Given the description of an element on the screen output the (x, y) to click on. 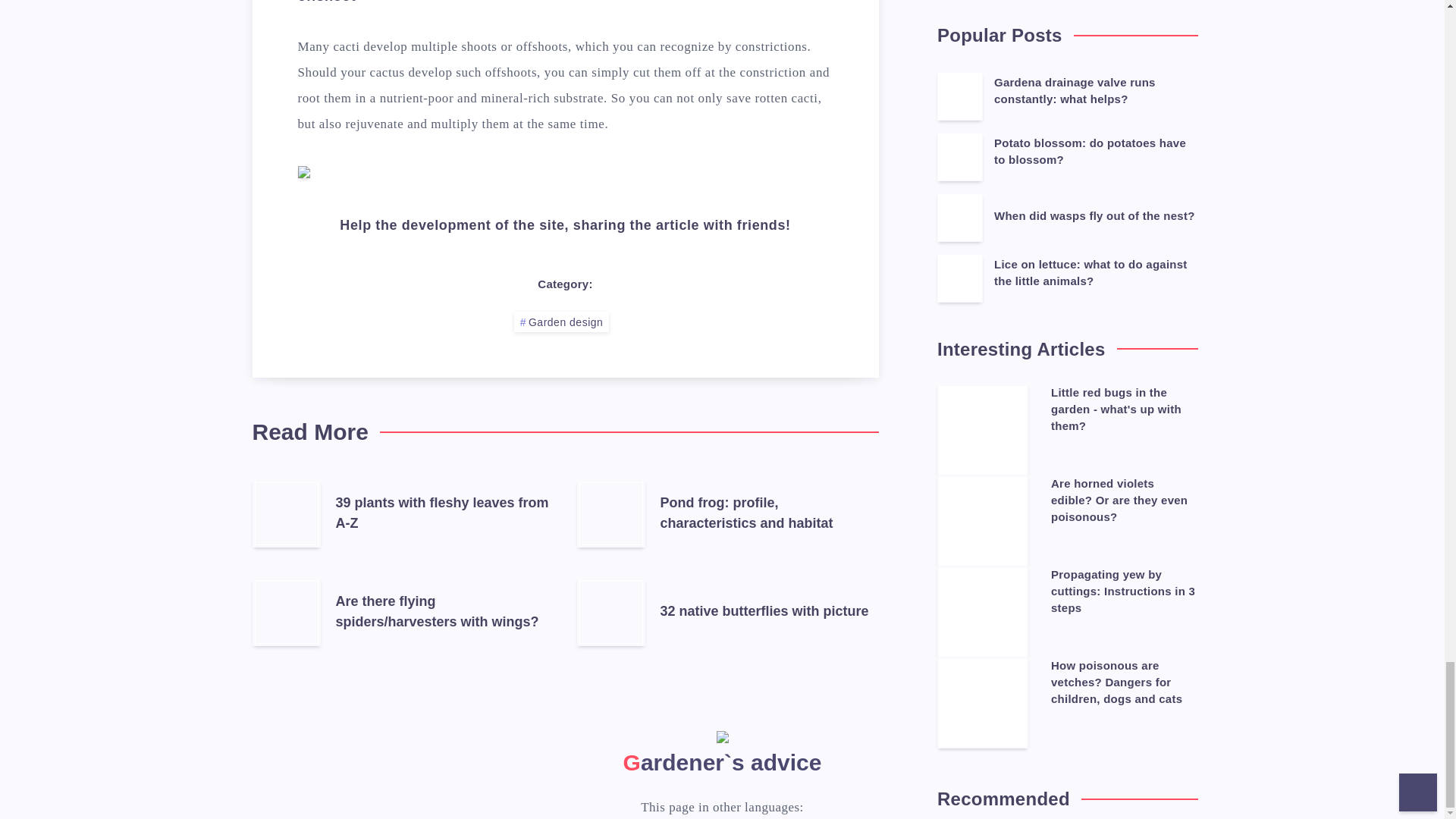
39 plants with fleshy leaves from A-Z (441, 514)
Garden design (561, 322)
32 native butterflies with picture (763, 612)
Pond frog: profile, characteristics and habitat (745, 514)
